Given the description of an element on the screen output the (x, y) to click on. 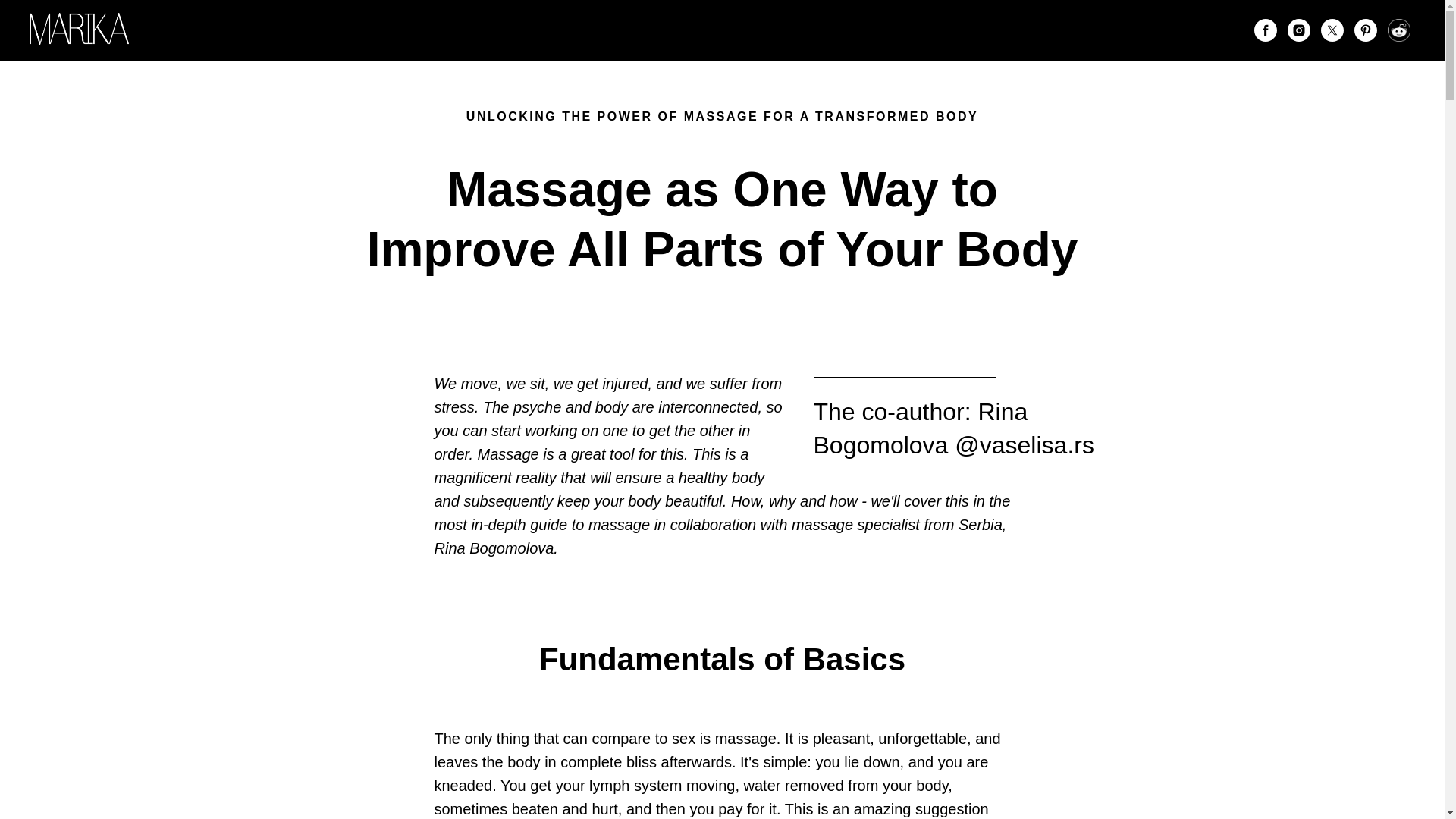
MEDIA KIT (593, 29)
AWARDS (518, 29)
WEBITORIAL (679, 29)
ACCELERATOR (930, 29)
CONTACTS (833, 29)
NEW ISSUE (438, 29)
SUBMIT (759, 29)
